Given the description of an element on the screen output the (x, y) to click on. 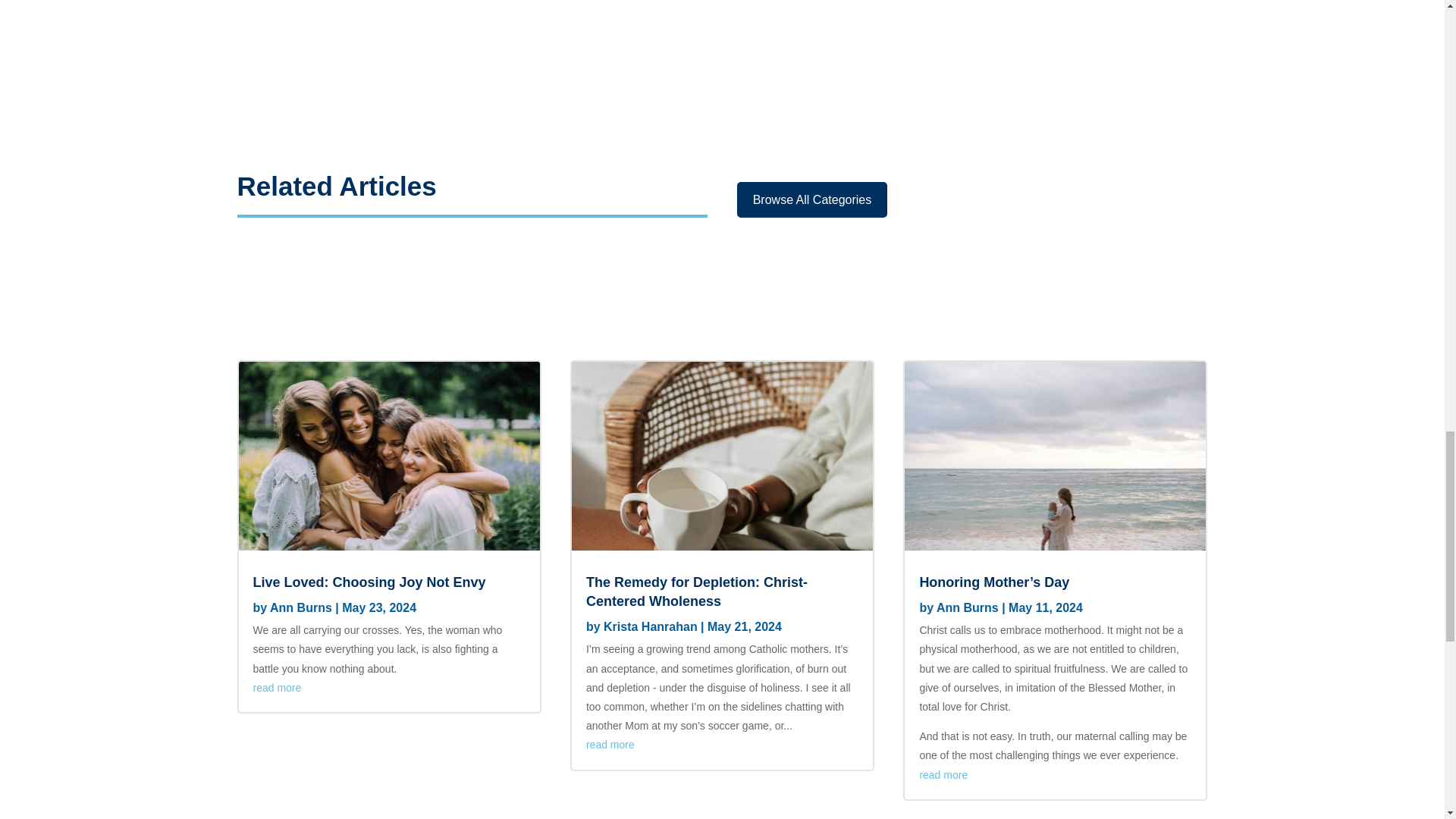
Browse All Categories (812, 199)
read more (277, 687)
Live Loved: Choosing Joy Not Envy (369, 581)
Krista Hanrahan (650, 626)
read more (943, 775)
Posts by Krista Hanrahan (650, 626)
Ann Burns (300, 607)
Posts by Ann Burns (967, 607)
read more (610, 744)
The Remedy for Depletion: Christ-Centered Wholeness (697, 591)
Ann Burns (967, 607)
Posts by Ann Burns (300, 607)
